Given the description of an element on the screen output the (x, y) to click on. 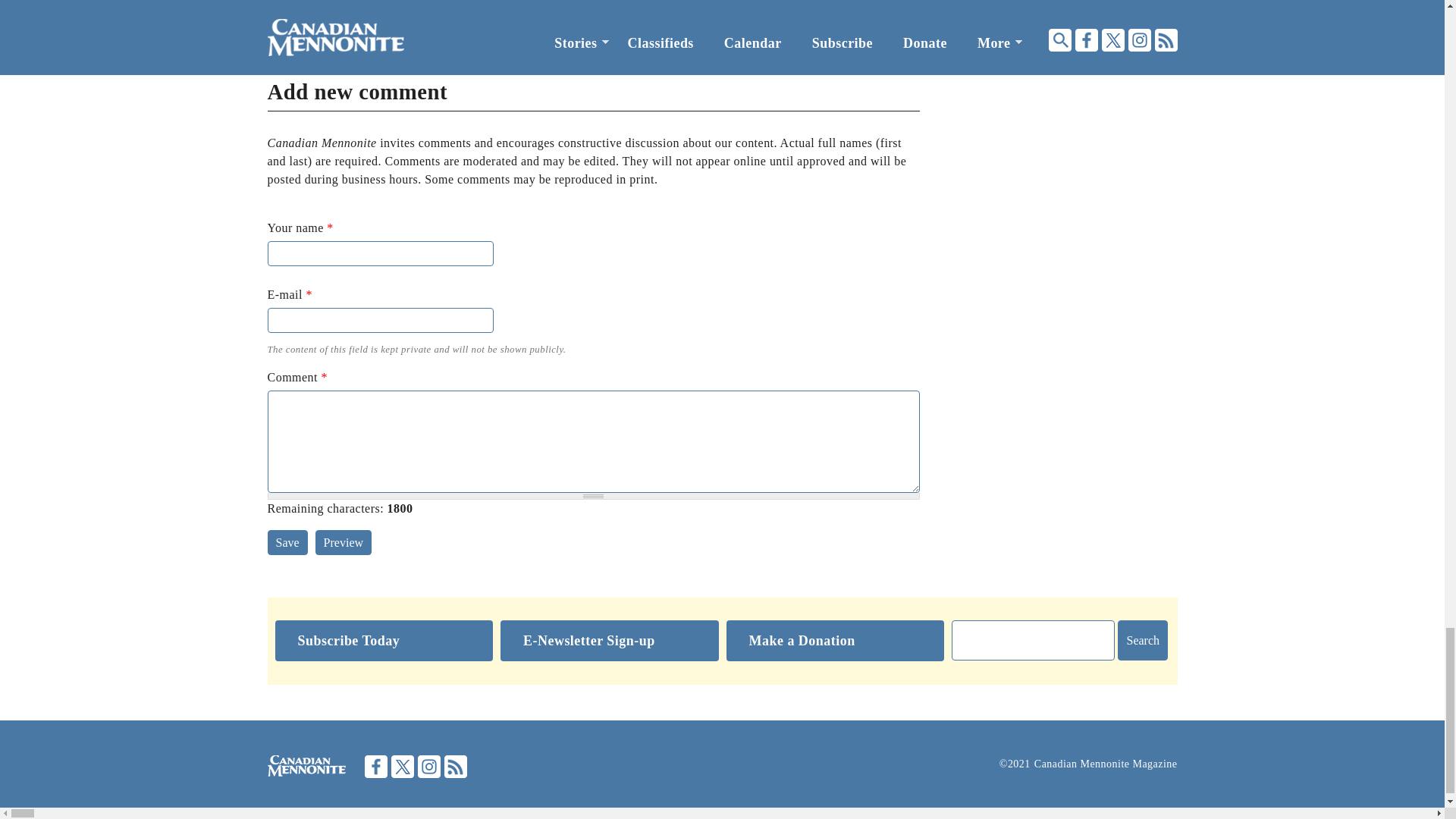
Search (1142, 639)
Save (286, 542)
Preview (343, 542)
